Given the description of an element on the screen output the (x, y) to click on. 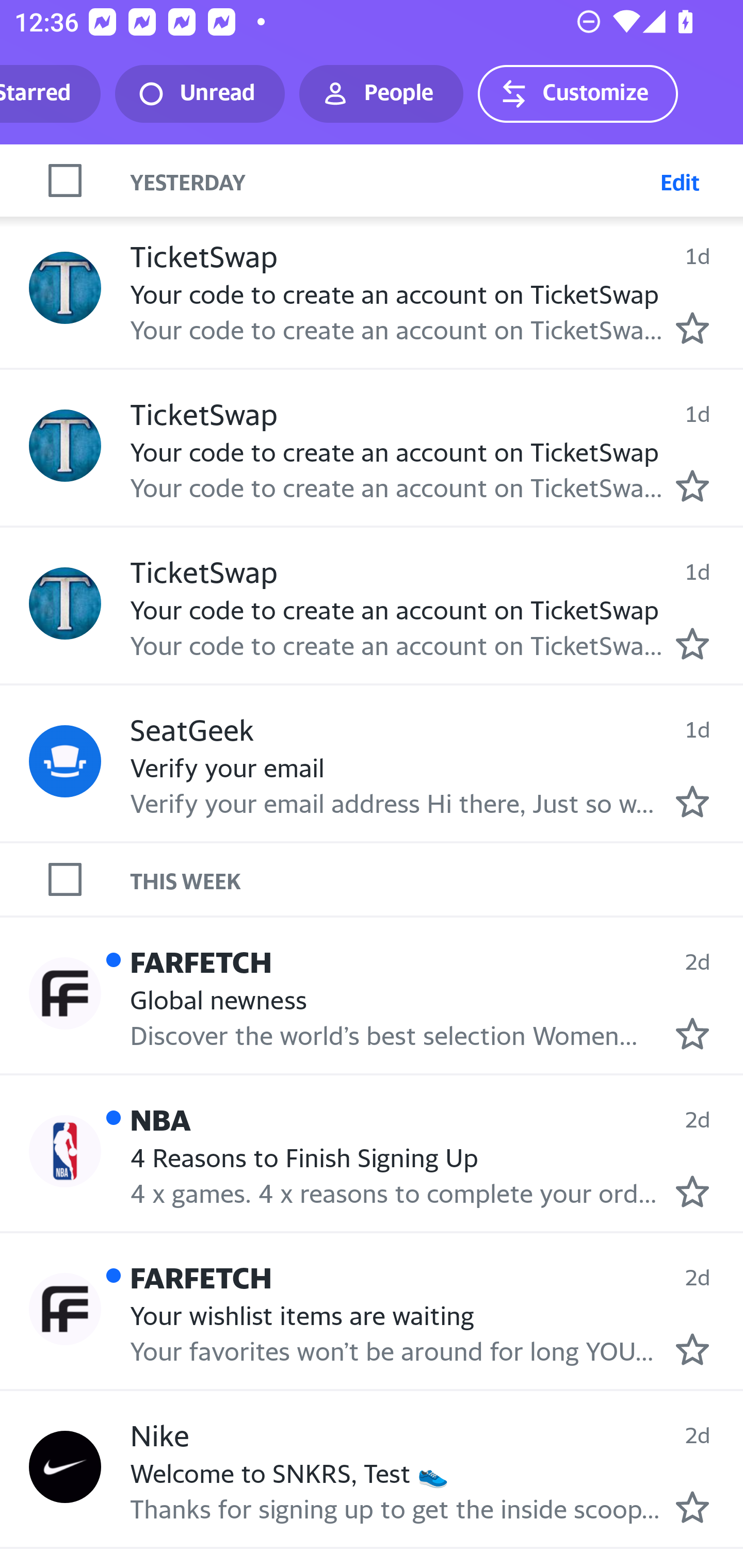
Unread (199, 93)
People (381, 93)
Customize (577, 93)
Profile
TicketSwap (64, 288)
Mark as starred. (692, 328)
Profile
TicketSwap (64, 445)
Mark as starred. (692, 485)
Profile
TicketSwap (64, 603)
Mark as starred. (692, 643)
Profile
SeatGeek (64, 761)
Mark as starred. (692, 802)
THIS WEEK (436, 878)
Profile
FARFETCH (64, 994)
Mark as starred. (692, 1034)
Profile
NBA (64, 1150)
Mark as starred. (692, 1190)
Profile
FARFETCH (64, 1309)
Mark as starred. (692, 1349)
Profile
Nike (64, 1466)
Mark as starred. (692, 1507)
